Given the description of an element on the screen output the (x, y) to click on. 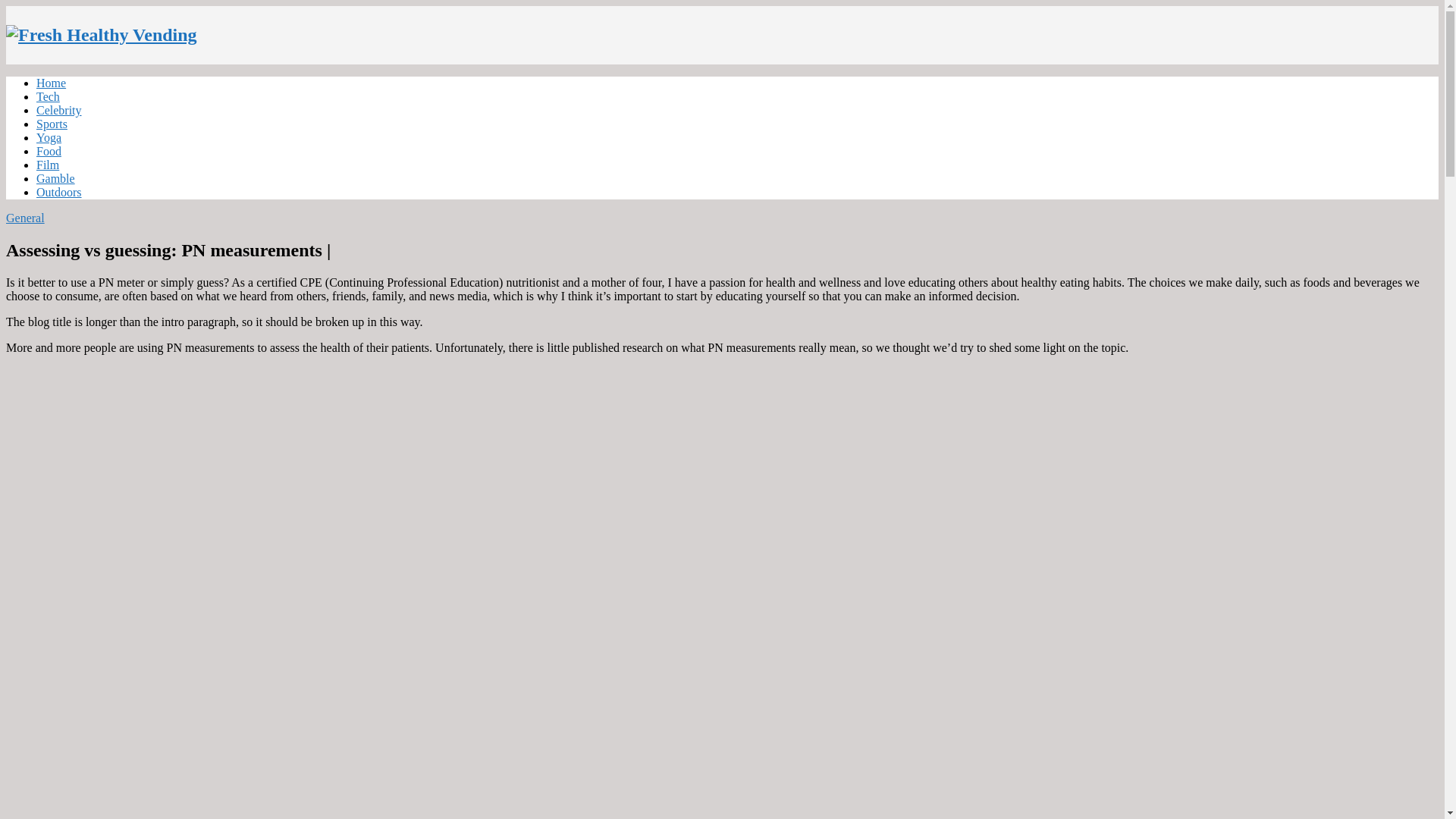
Home (50, 82)
Celebrity (58, 110)
General (25, 217)
Film (47, 164)
Yoga (48, 137)
Outdoors (58, 192)
Tech (47, 96)
Gamble (55, 178)
Sports (51, 123)
Food (48, 151)
